Given the description of an element on the screen output the (x, y) to click on. 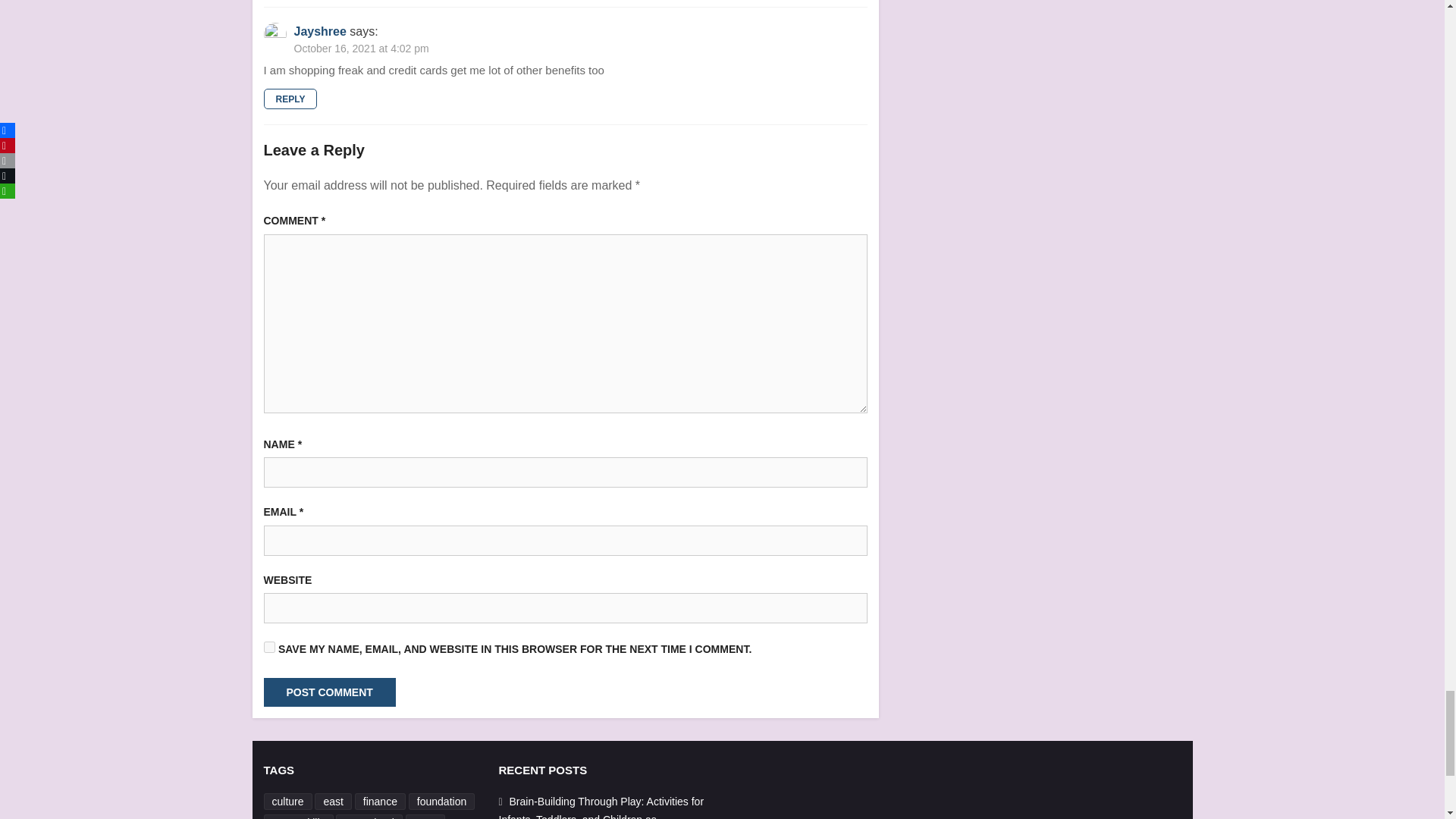
Post Comment (329, 692)
yes (269, 646)
